Given the description of an element on the screen output the (x, y) to click on. 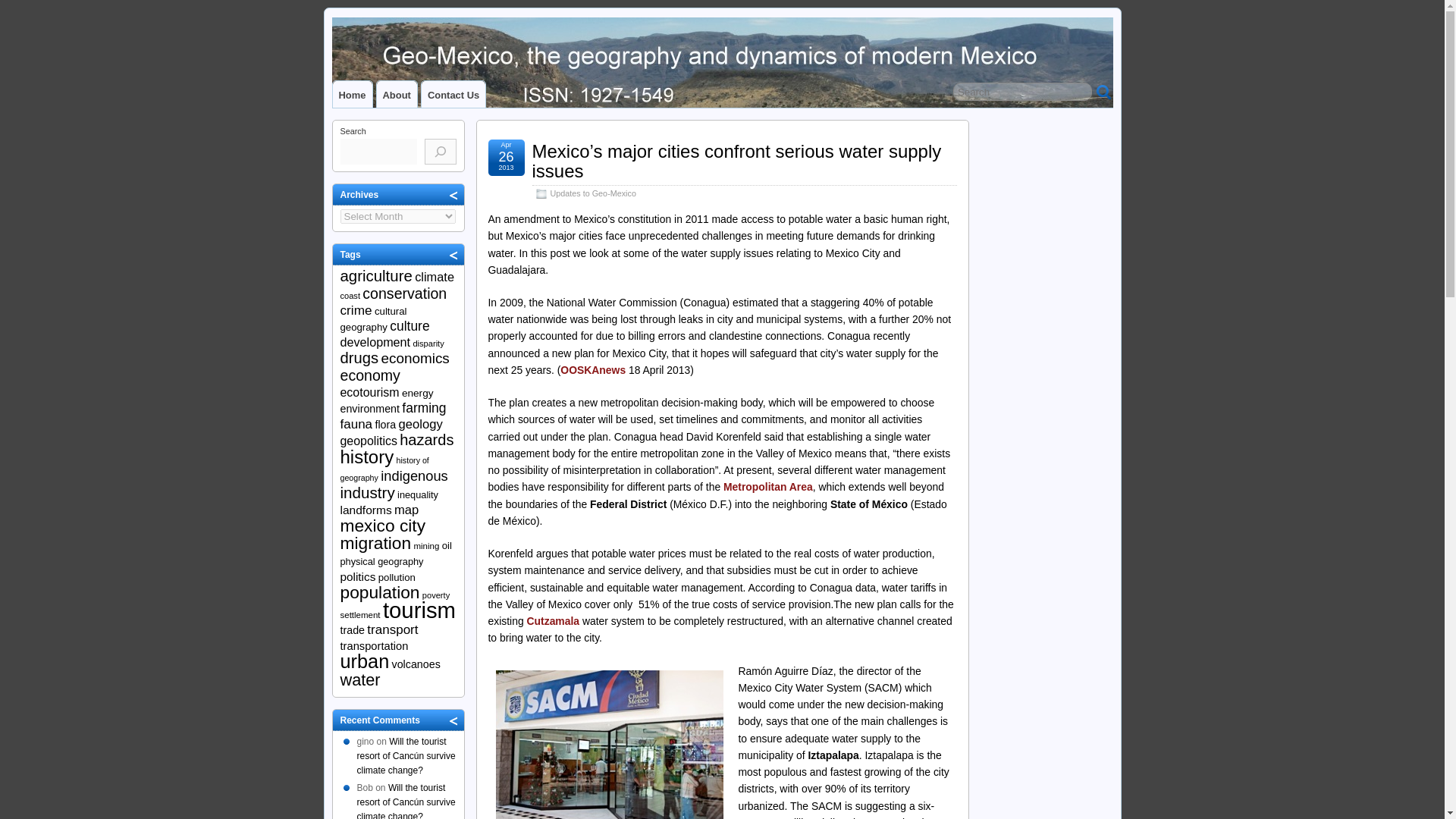
Contact Us (453, 94)
OOSKAnews (593, 369)
Updates to Geo-Mexico (593, 193)
About (395, 94)
Metropolitan Area (767, 486)
Cutzamala (554, 621)
Home (351, 94)
